Given the description of an element on the screen output the (x, y) to click on. 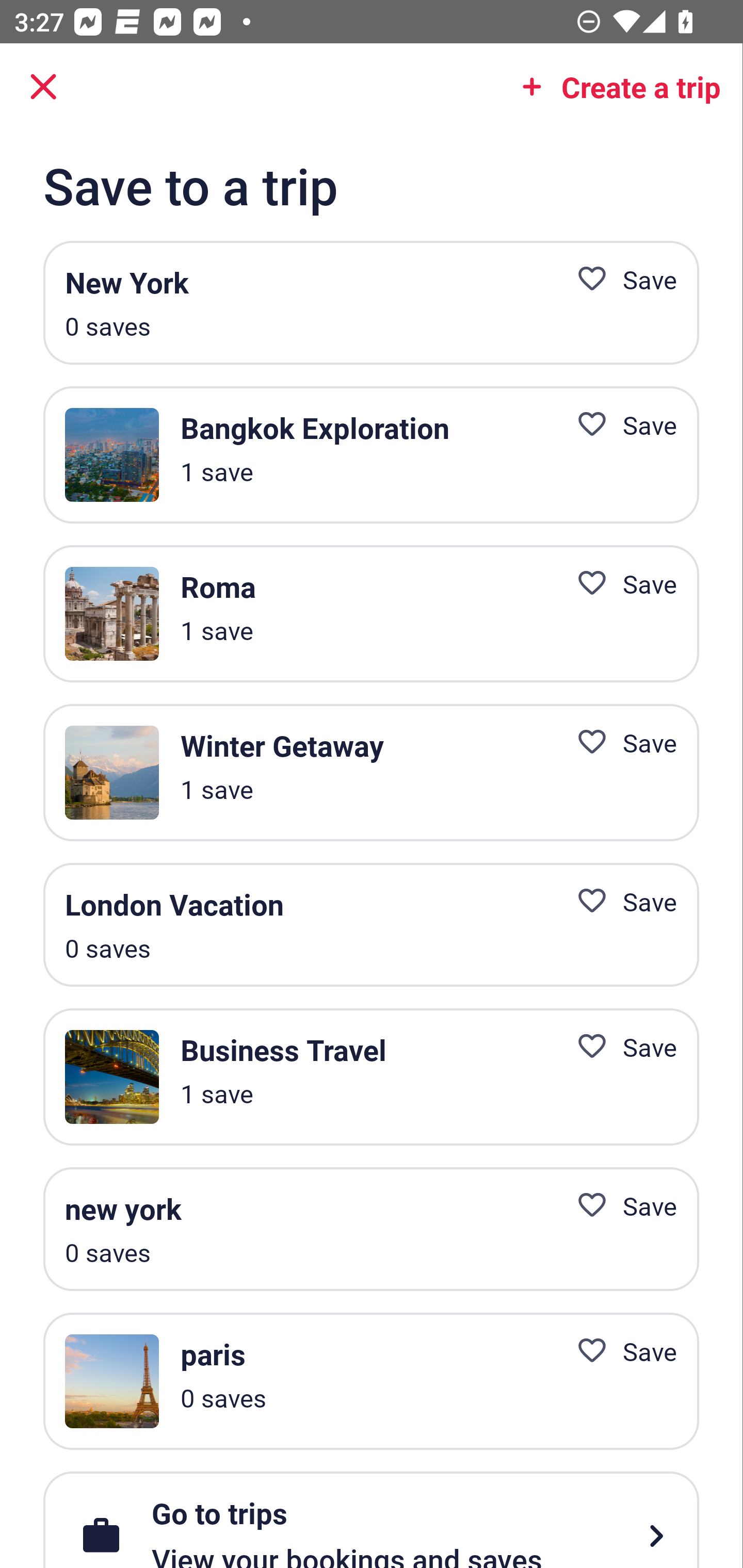
Close (43, 86)
Add Icon Create a trip (615, 86)
Favorite Icon Save (619, 279)
New York 0 saves Favorite Icon Save (371, 303)
Favorite Icon Save (619, 424)
Favorite Icon Save (619, 583)
Favorite Icon Save (619, 742)
Favorite Icon Save (619, 901)
London Vacation 0 saves Favorite Icon Save (371, 924)
Favorite Icon Save (619, 1046)
Favorite Icon Save (619, 1205)
new york 0 saves Favorite Icon Save (371, 1228)
Favorite Icon Save (619, 1350)
